Given the description of an element on the screen output the (x, y) to click on. 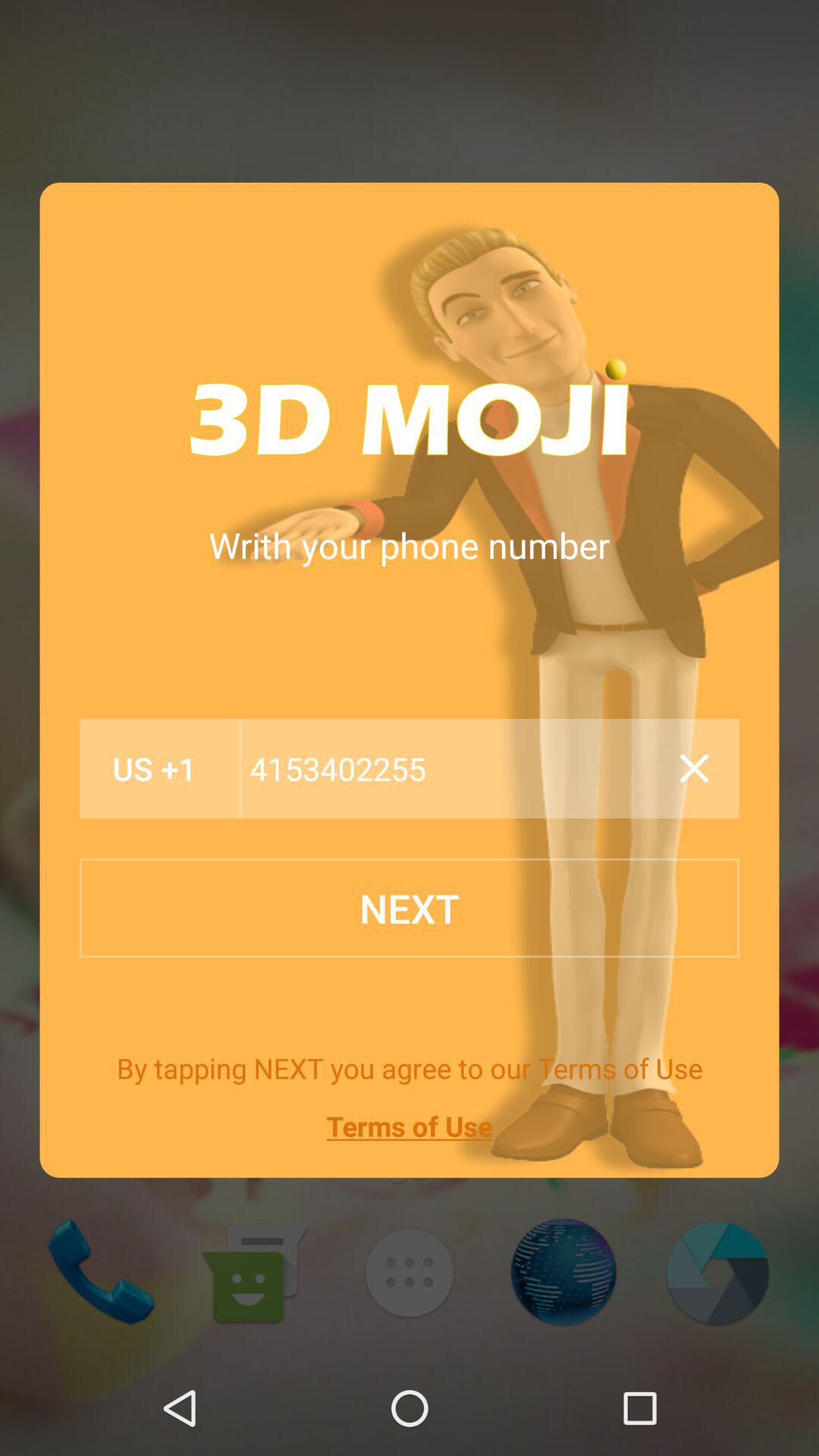
choose 4153402255 icon (454, 768)
